Given the description of an element on the screen output the (x, y) to click on. 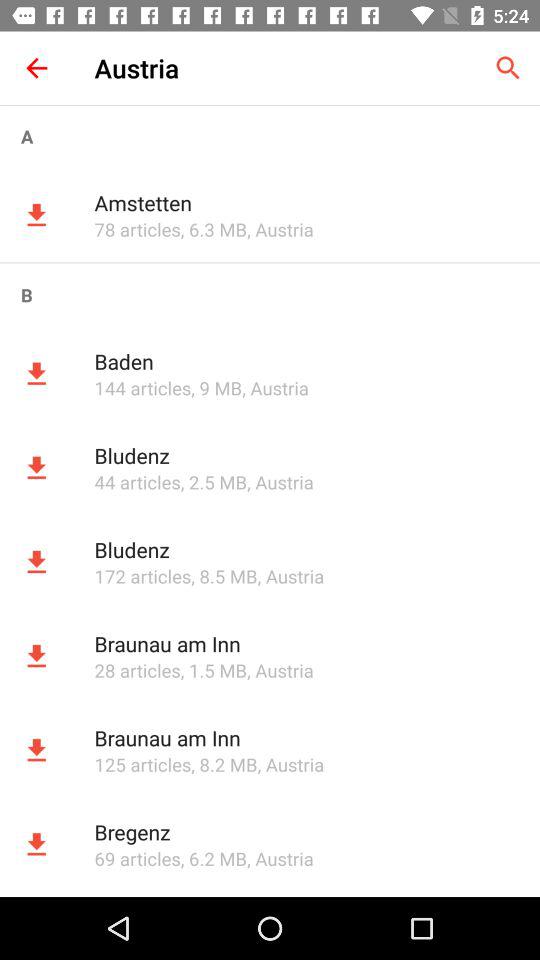
open app above a (36, 68)
